Given the description of an element on the screen output the (x, y) to click on. 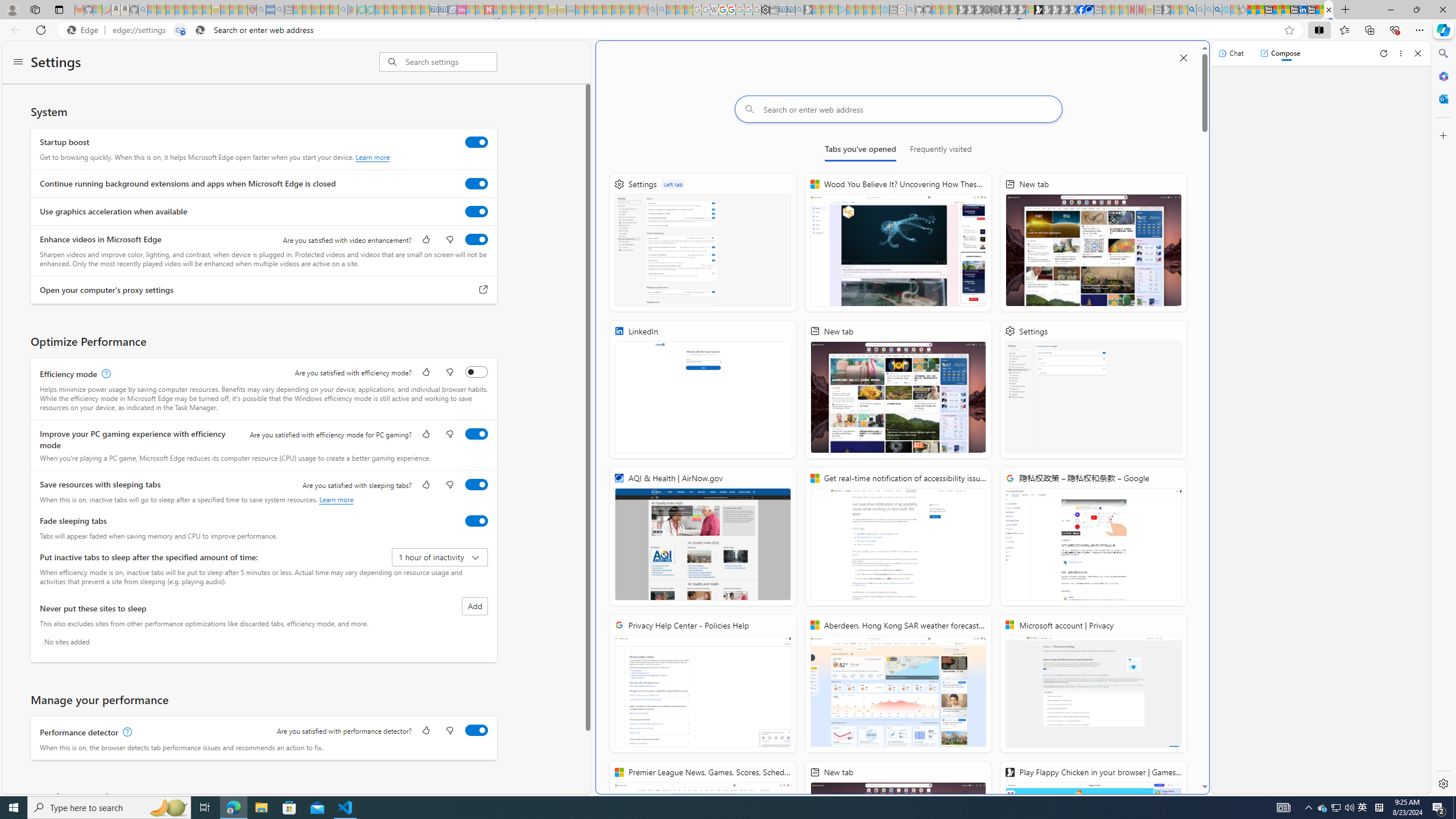
Search icon (200, 29)
Settings menu (18, 62)
